Given the description of an element on the screen output the (x, y) to click on. 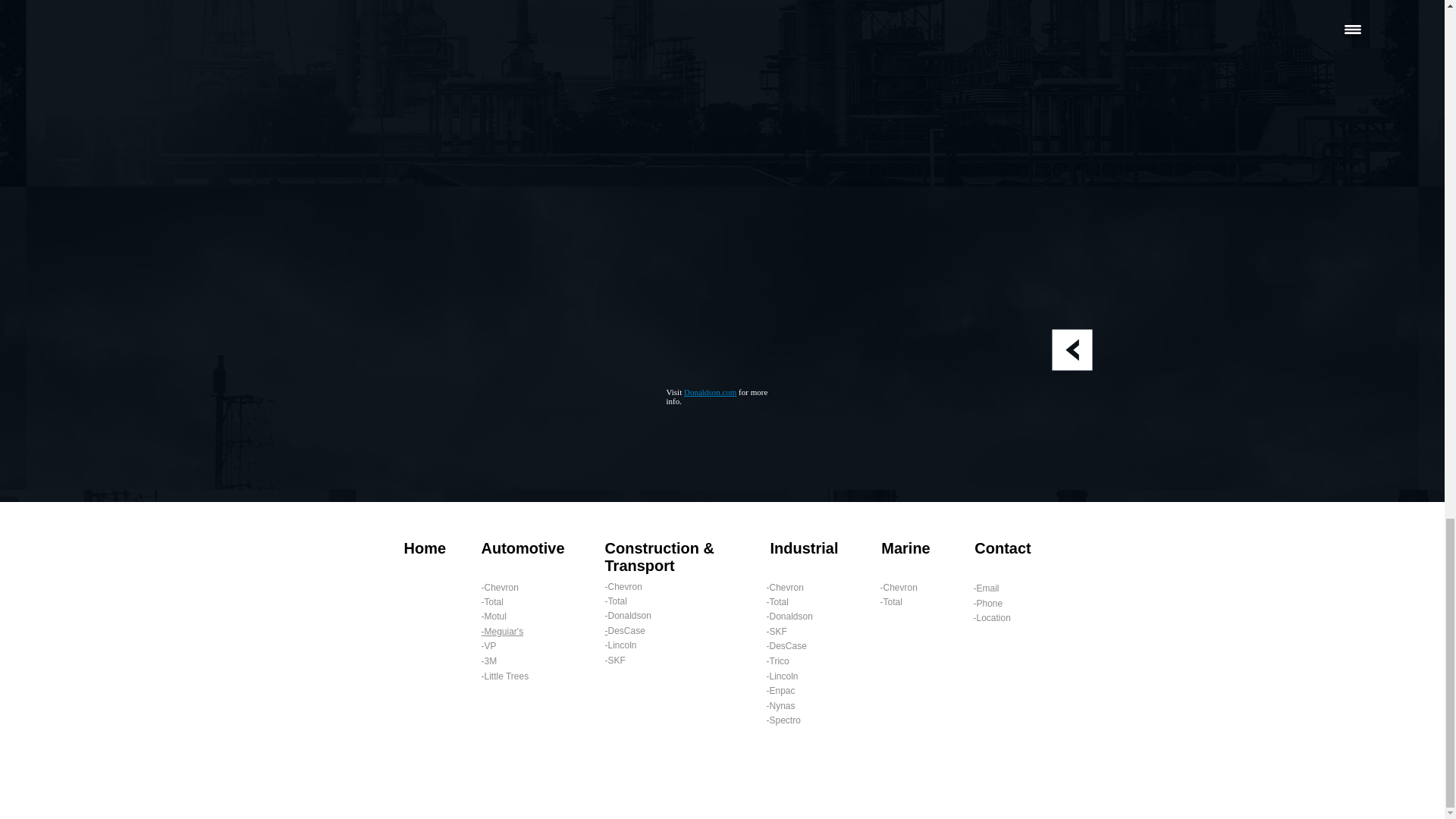
-Little Trees (504, 675)
-Lincoln (781, 675)
-Nynas (779, 706)
-Total (776, 602)
-Total (491, 602)
Automotive (522, 547)
-Chevron (623, 586)
-Total (616, 601)
-DesCase (785, 645)
-Chevron (499, 587)
